Given the description of an element on the screen output the (x, y) to click on. 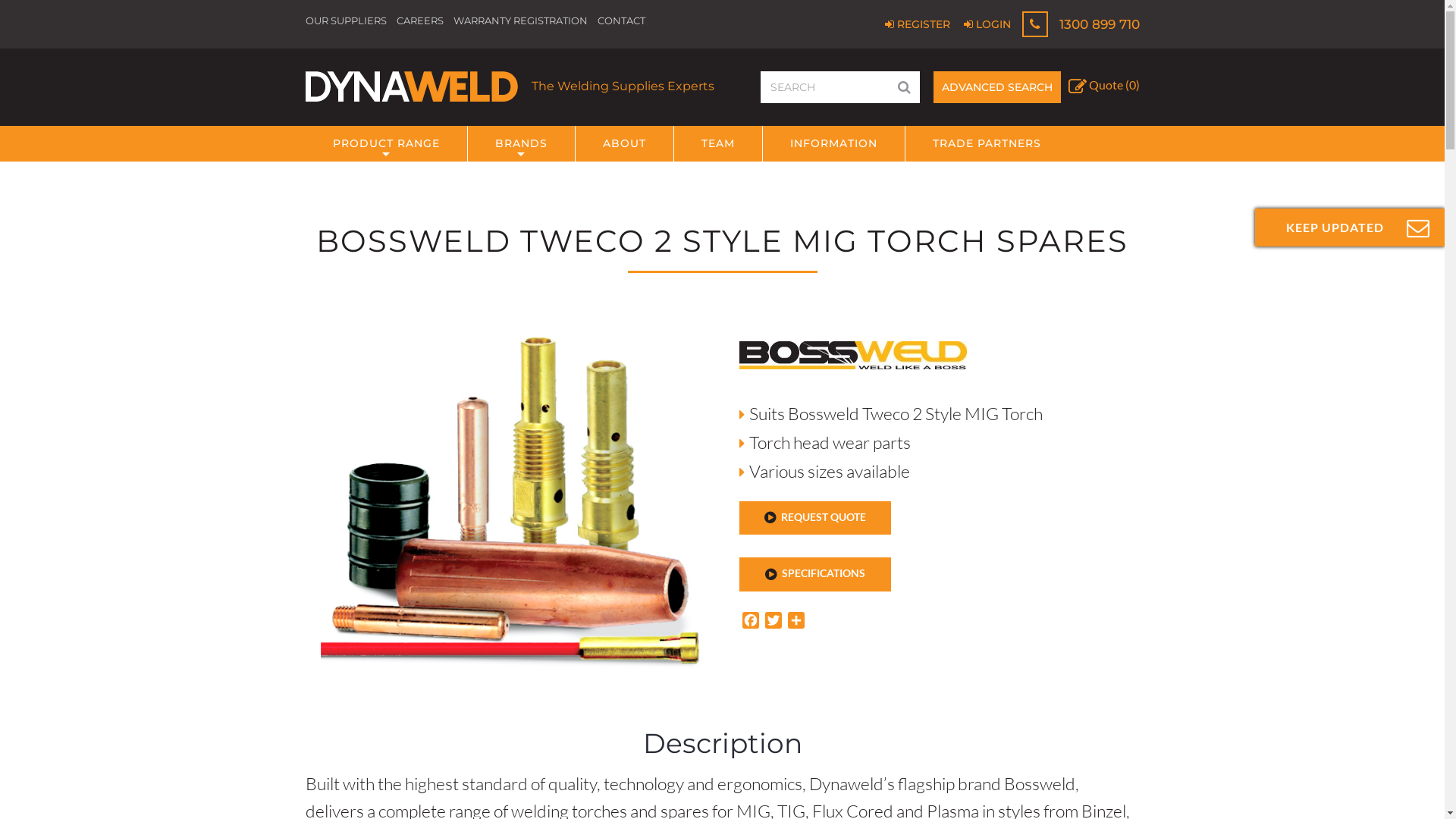
INFORMATION Element type: text (833, 143)
TWC Parts Element type: hover (513, 511)
PRODUCT RANGE Element type: text (385, 143)
TEAM Element type: text (717, 143)
CAREERS Element type: text (418, 20)
LOGIN Element type: text (986, 24)
ADVANCED SEARCH Element type: text (996, 87)
CONTACT Element type: text (621, 20)
Twitter Element type: text (772, 619)
WARRANTY REGISTRATION Element type: text (520, 20)
REQUEST QUOTE Element type: text (814, 517)
TRADE PARTNERS Element type: text (986, 143)
1300 899 710 Element type: text (1080, 23)
SPECIFICATIONS Element type: text (814, 573)
BRANDS Element type: text (520, 143)
ABOUT Element type: text (623, 143)
OUR SUPPLIERS Element type: text (344, 20)
Share Element type: text (795, 619)
Quote (0) Element type: text (1103, 85)
REGISTER Element type: text (916, 24)
Facebook Element type: text (749, 619)
